Given the description of an element on the screen output the (x, y) to click on. 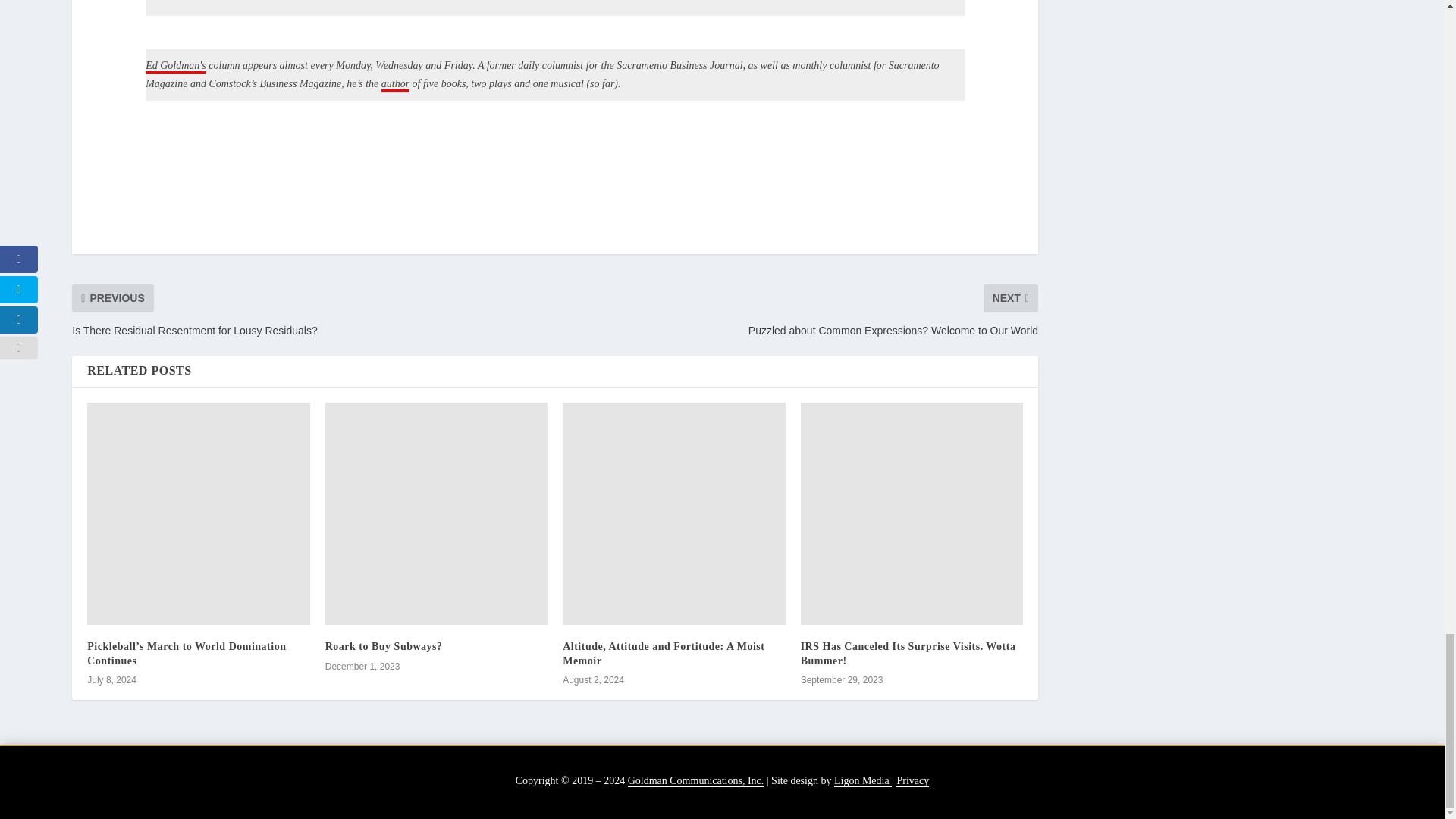
Ed Goldman's (175, 66)
Roark to Buy Subways? (383, 645)
author (395, 84)
Altitude, Attitude and Fortitude: A Moist Memoir (663, 652)
